Given the description of an element on the screen output the (x, y) to click on. 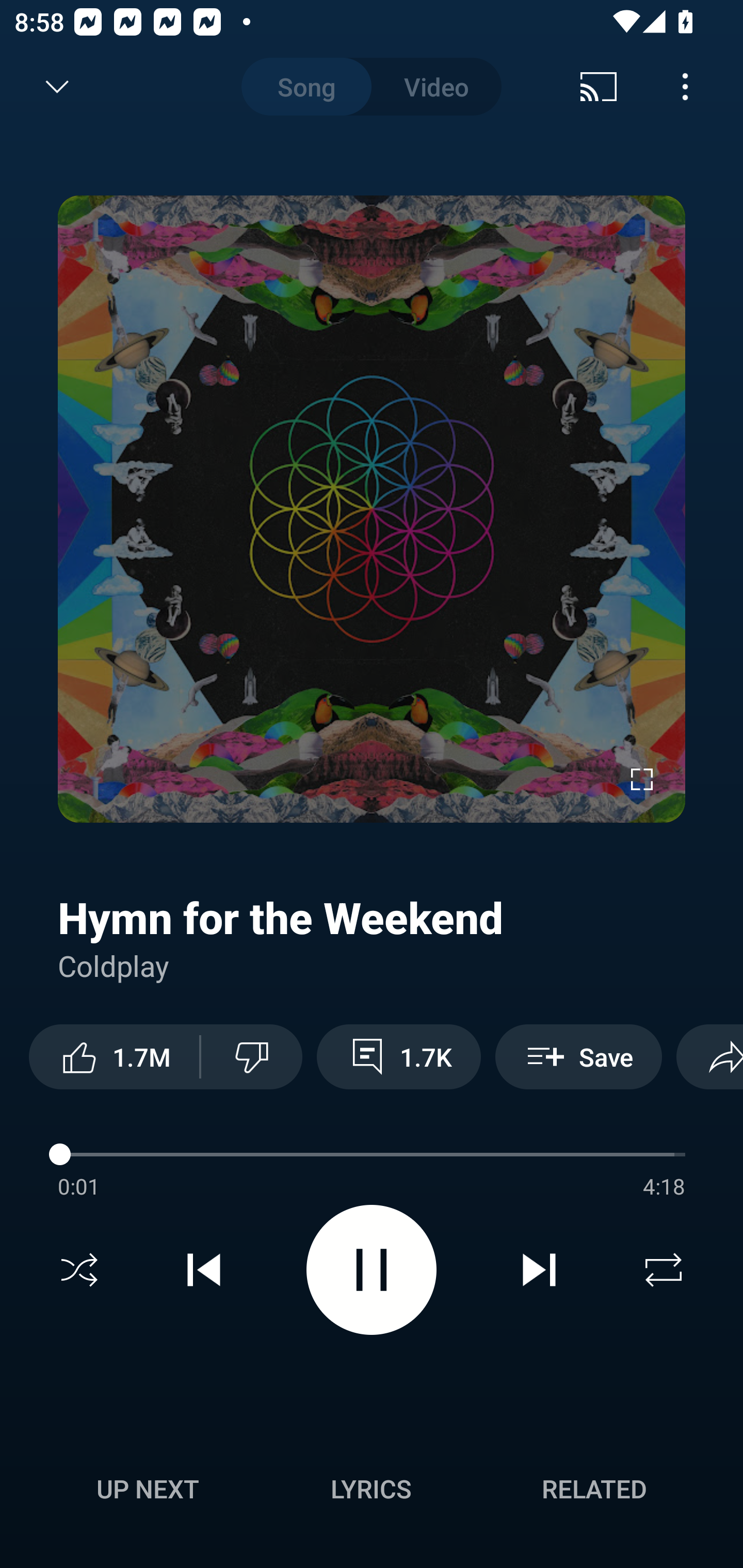
Cast. Disconnected (598, 86)
Menu (684, 86)
Back (50, 86)
Enter fullscreen (641, 779)
Action menu (371, 919)
Dislike (251, 1056)
1.7K View 1,737 comments (398, 1056)
Save Save to playlist (578, 1056)
Share (709, 1056)
Action menu (371, 1179)
Pause video (371, 1269)
Shuffle off (79, 1269)
Previous track (203, 1269)
Next track (538, 1269)
Repeat off (663, 1269)
Up next UP NEXT Lyrics LYRICS Related RELATED (371, 1491)
Lyrics LYRICS (370, 1488)
Related RELATED (594, 1488)
